Given the description of an element on the screen output the (x, y) to click on. 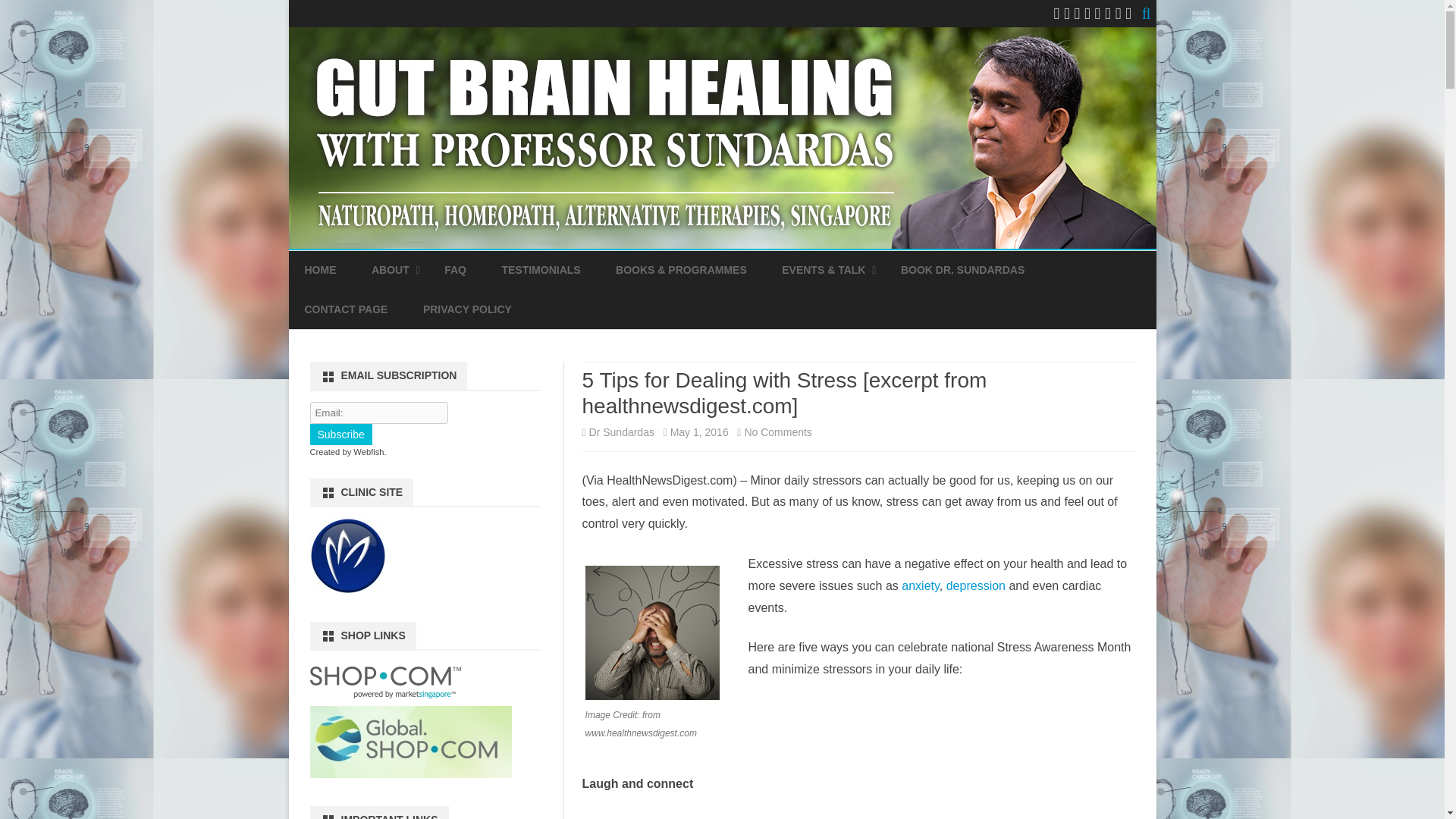
TESTIMONIALS (539, 270)
ABOUT (390, 270)
AUTISM INFO (446, 305)
Subscribe (339, 434)
